Given the description of an element on the screen output the (x, y) to click on. 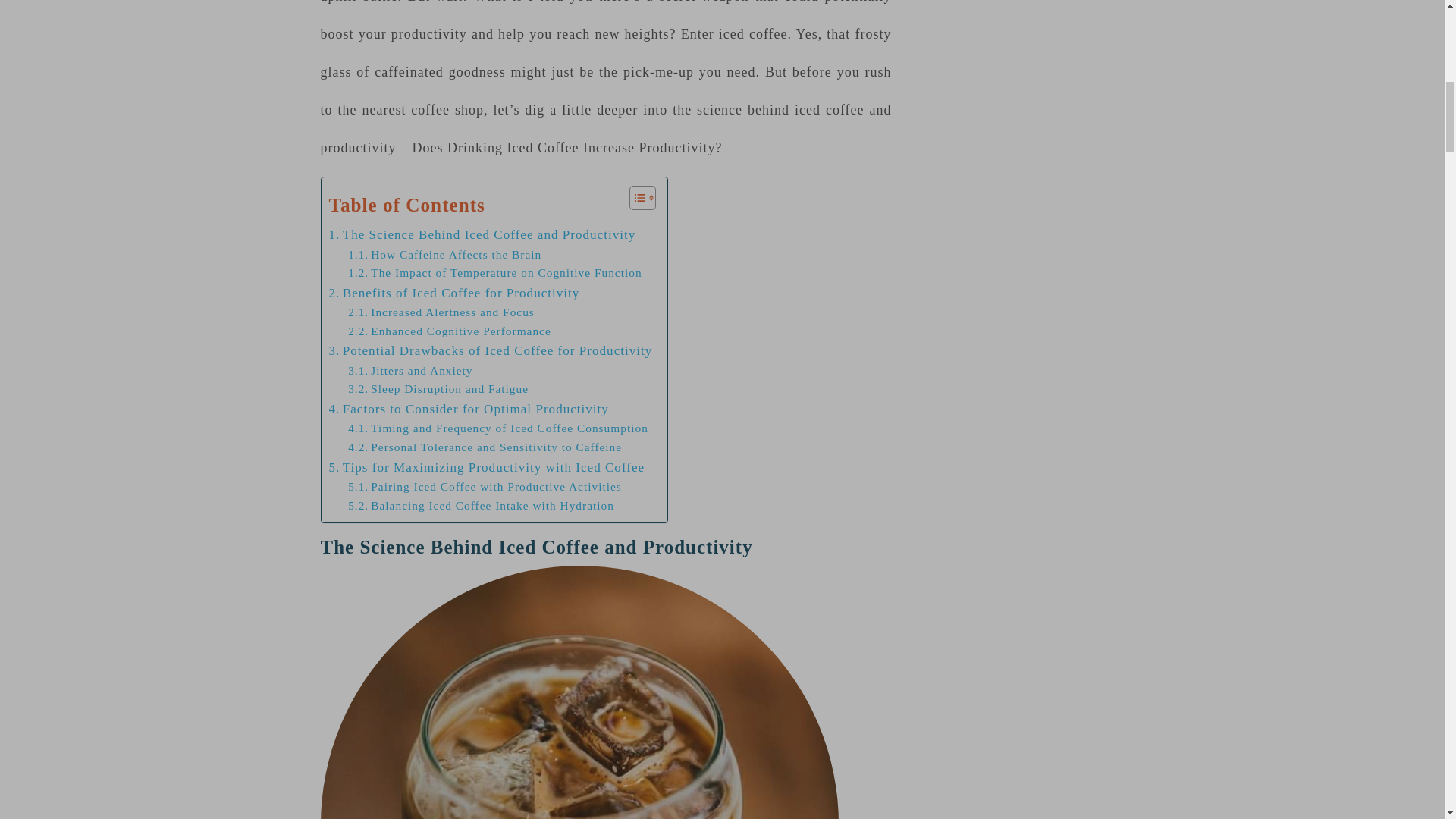
Enhanced Cognitive Performance (449, 331)
The Science Behind Iced Coffee and Productivity (482, 234)
How Caffeine Affects the Brain (444, 254)
Jitters and Anxiety (409, 370)
Potential Drawbacks of Iced Coffee for Productivity (490, 350)
Benefits of Iced Coffee for Productivity (454, 292)
Sleep Disruption and Fatigue (437, 389)
The Impact of Temperature on Cognitive Function (494, 272)
Increased Alertness and Focus (440, 312)
